Given the description of an element on the screen output the (x, y) to click on. 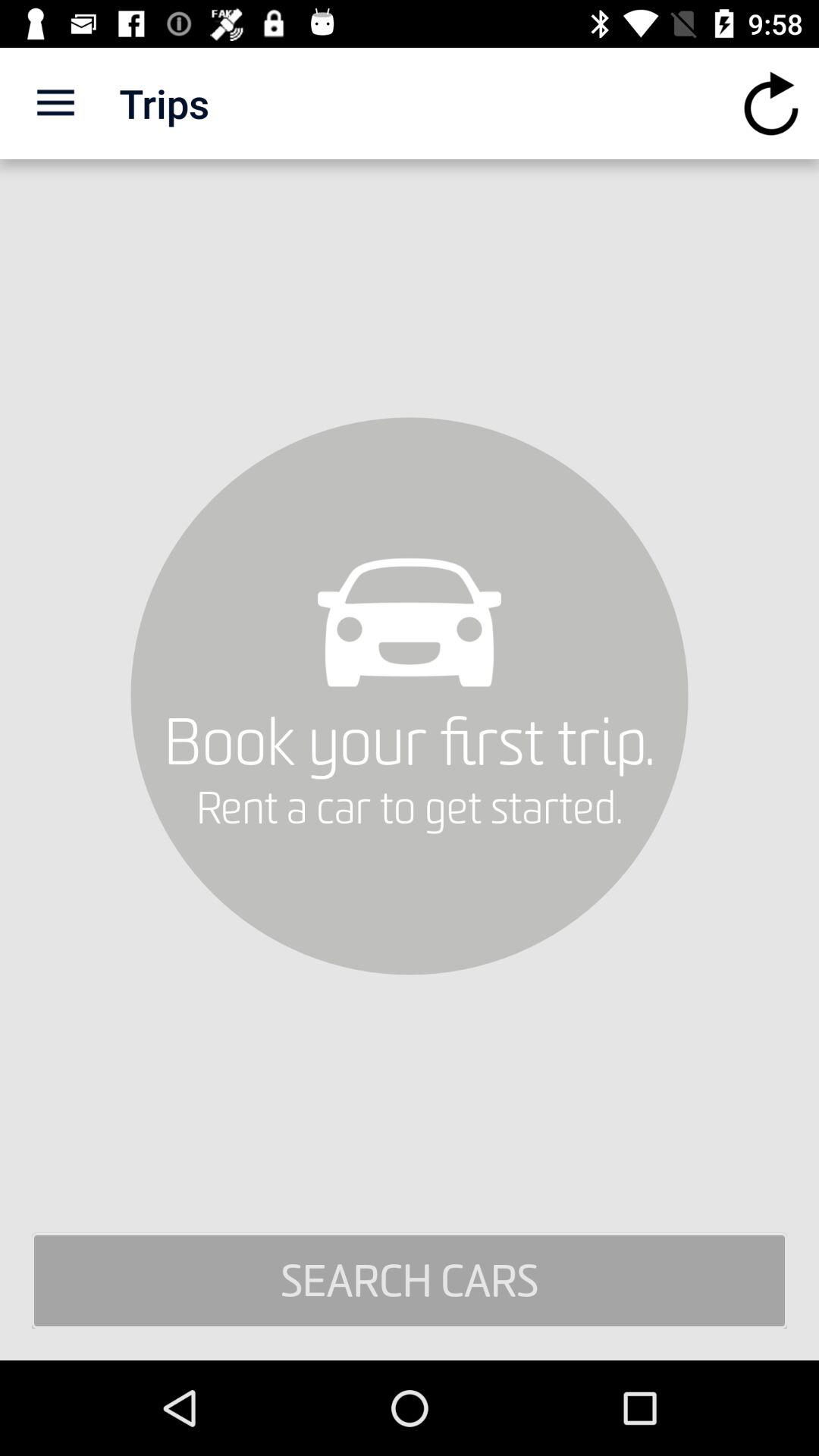
turn off item below the book your first item (409, 1280)
